Given the description of an element on the screen output the (x, y) to click on. 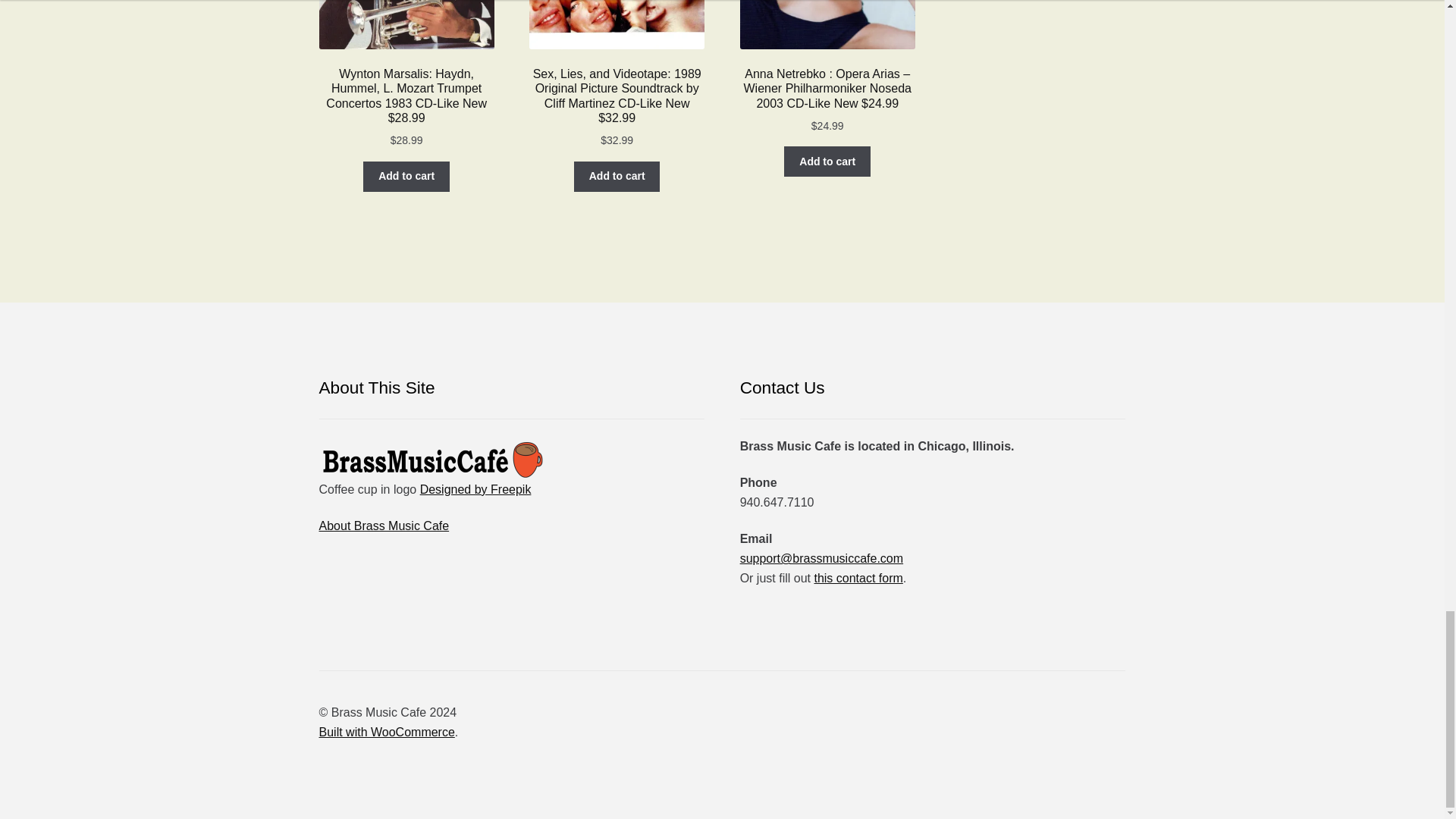
WooCommerce - The Best eCommerce Platform for WordPress (386, 731)
